Given the description of an element on the screen output the (x, y) to click on. 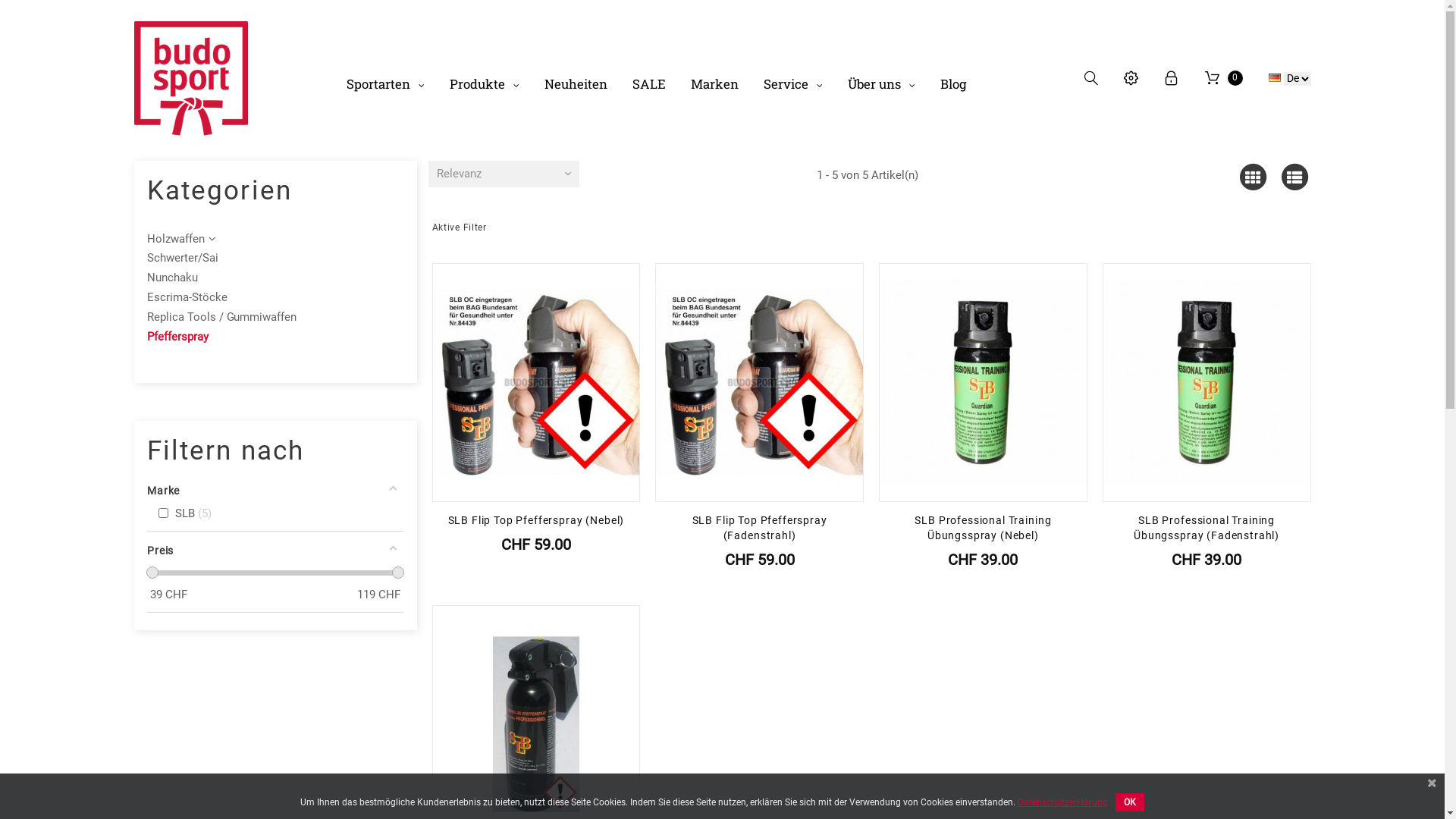
Produkte Element type: text (484, 84)
Suche Element type: hover (1091, 78)
Relevanz Element type: text (503, 173)
Neuheiten Element type: text (575, 84)
Grid Element type: hover (1252, 177)
Service Element type: text (792, 84)
Einstellungen Element type: hover (1137, 78)
0 Element type: text (1223, 77)
Budo-Sport AG Element type: hover (190, 77)
Replica Tools / Gummiwaffen Element type: text (221, 316)
SALE Element type: text (648, 84)
Pfefferspray Element type: text (177, 336)
OK Element type: text (1129, 802)
Schwerter/Sai Element type: text (182, 257)
SLB Flip Top Pfefferspray (Nebel) Element type: text (535, 520)
Marken Element type: text (714, 84)
Sportarten Element type: text (385, 84)
SLB Flip Top Pfefferspray (Fadenstrahl) Element type: text (759, 527)
Holzwaffen Element type: text (175, 238)
Nunchaku Element type: text (172, 277)
Blog Element type: text (953, 84)
Einloggen Element type: hover (1171, 78)
List Element type: hover (1294, 177)
